Given the description of an element on the screen output the (x, y) to click on. 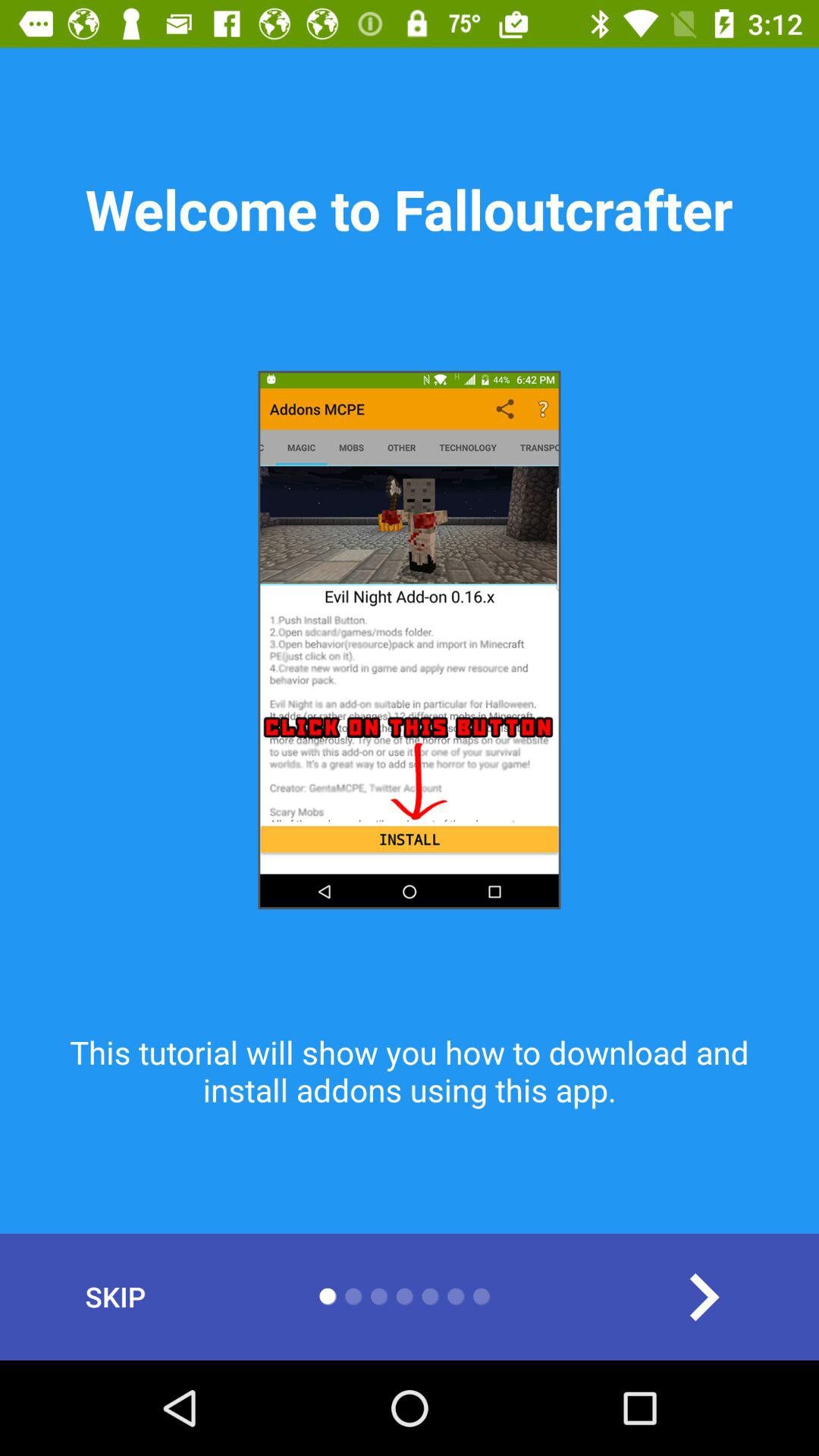
jump until the skip (114, 1296)
